Given the description of an element on the screen output the (x, y) to click on. 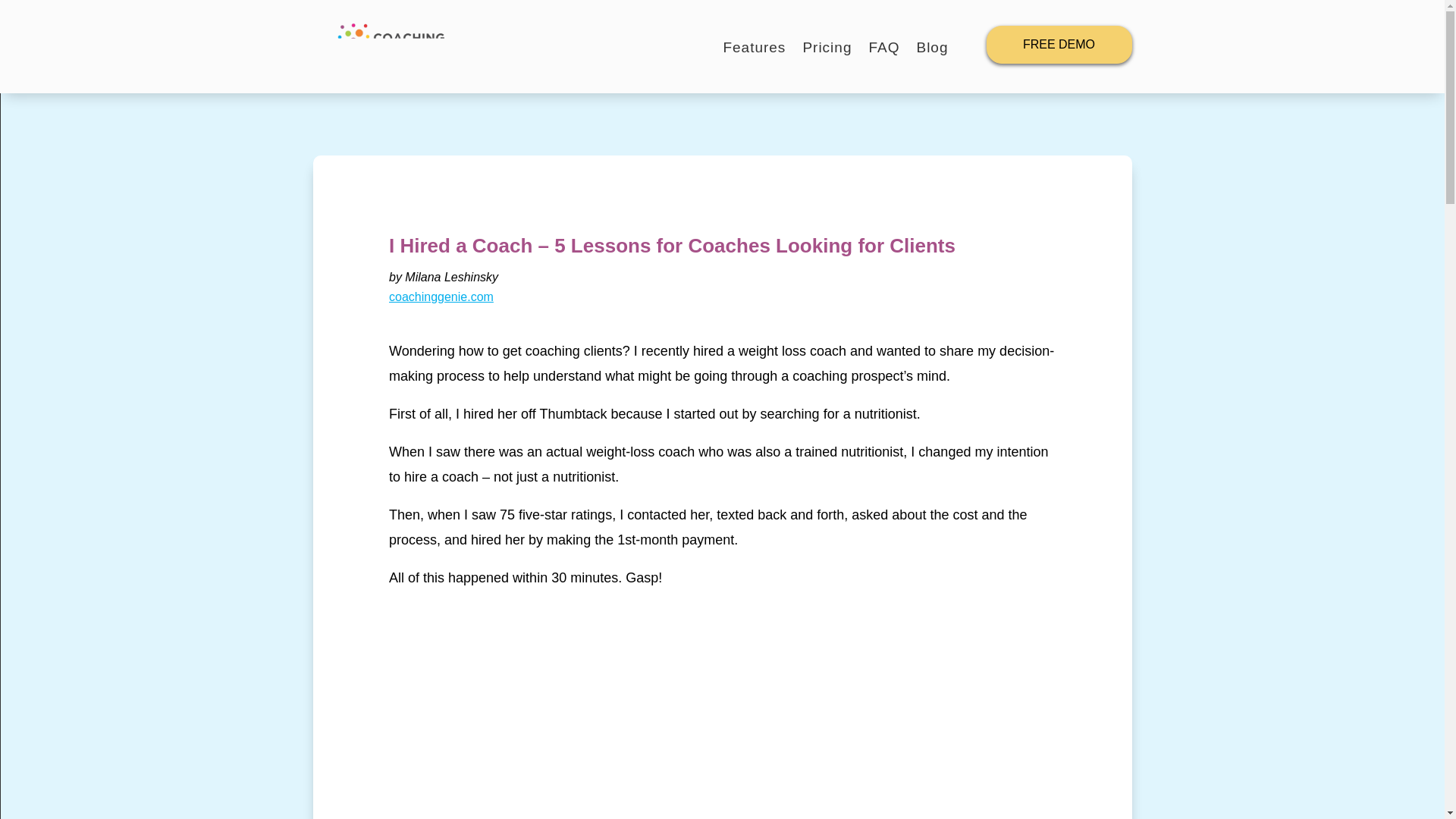
coachinggenie.com (440, 296)
Posts by Milana Leshinsky (450, 277)
Milana Leshinsky (450, 277)
Pricing (826, 50)
CG-Logo-1 (380, 46)
Features (754, 50)
YouTube video player (722, 718)
FAQ (883, 50)
Blog (931, 50)
FREE DEMO (1058, 44)
